Given the description of an element on the screen output the (x, y) to click on. 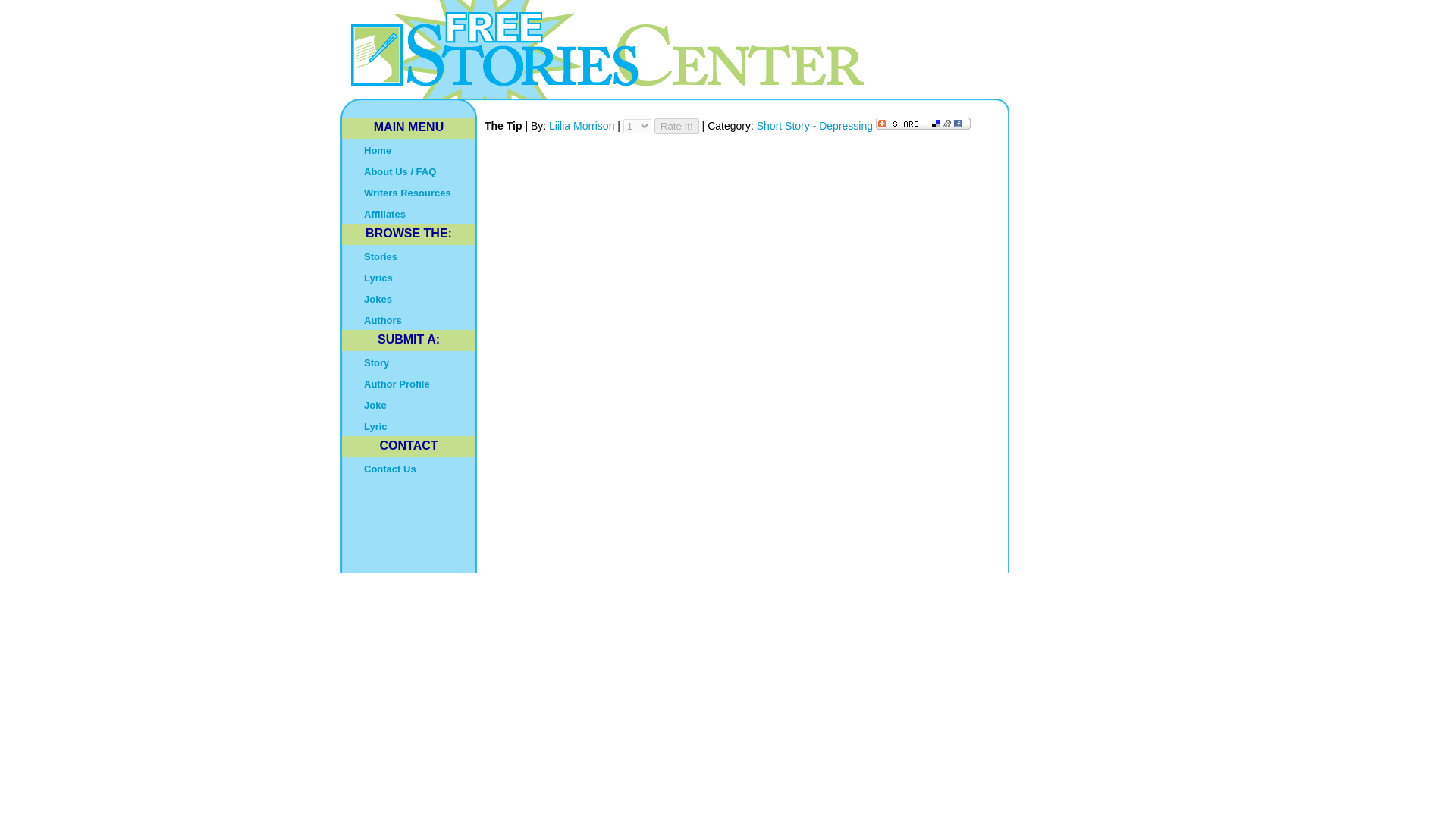
Rate It! (675, 125)
Story (409, 361)
Rate It! (675, 125)
Liilia Morrison (582, 125)
Affiliates (409, 212)
Authors (409, 319)
Home (409, 148)
Lyric (409, 424)
Joke (409, 403)
Author Profile (409, 382)
Contact Us (409, 467)
Lyrics (409, 276)
Jokes (409, 297)
Short Story - Depressing (816, 125)
Writers Resources (409, 191)
